Given the description of an element on the screen output the (x, y) to click on. 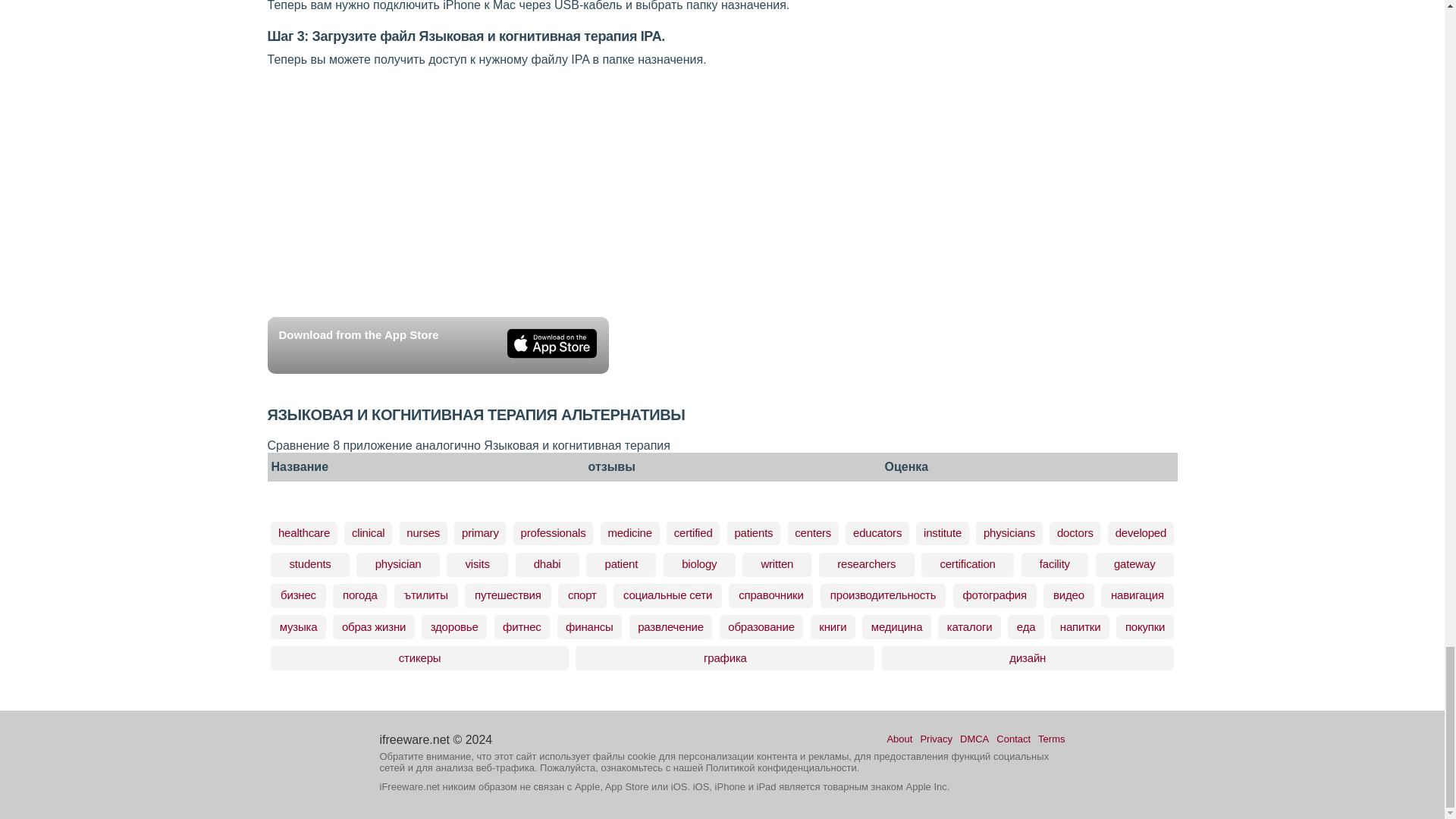
institute (941, 532)
visits (477, 563)
physician (398, 563)
medicine (629, 532)
Download from the App Store (437, 344)
patients (753, 532)
dhabi (547, 563)
centers (812, 532)
clinical (368, 532)
patient (621, 563)
professionals (553, 532)
developed (1141, 532)
healthcare (304, 532)
educators (877, 532)
physicians (1009, 532)
